Given the description of an element on the screen output the (x, y) to click on. 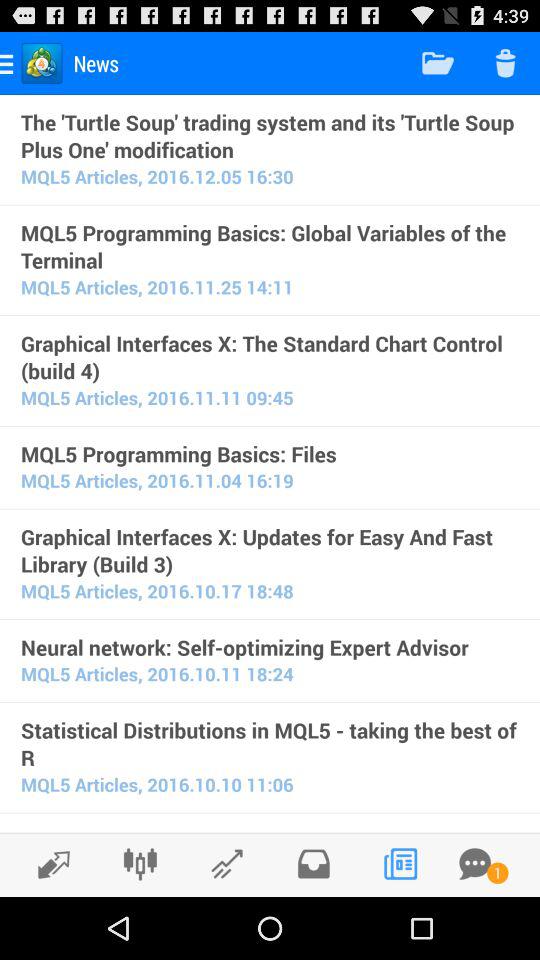
press the item above mql5 articles 2016 icon (270, 743)
